Given the description of an element on the screen output the (x, y) to click on. 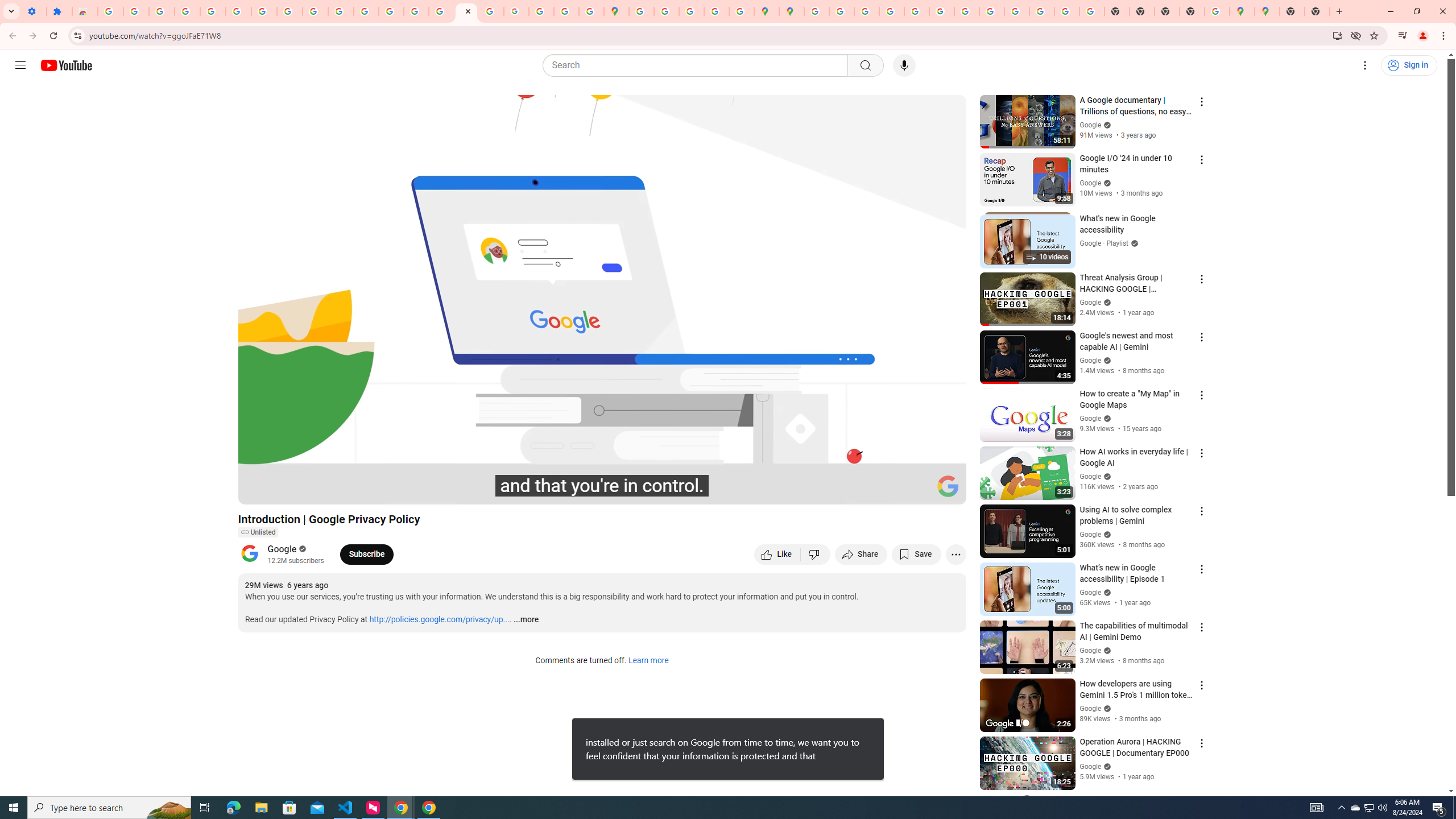
YouTube Home (66, 65)
Delete photos & videos - Computer - Google Photos Help (135, 11)
Guide (20, 65)
New Tab (1317, 11)
YouTube (966, 11)
Dislike this video (815, 554)
More actions (955, 554)
